Given the description of an element on the screen output the (x, y) to click on. 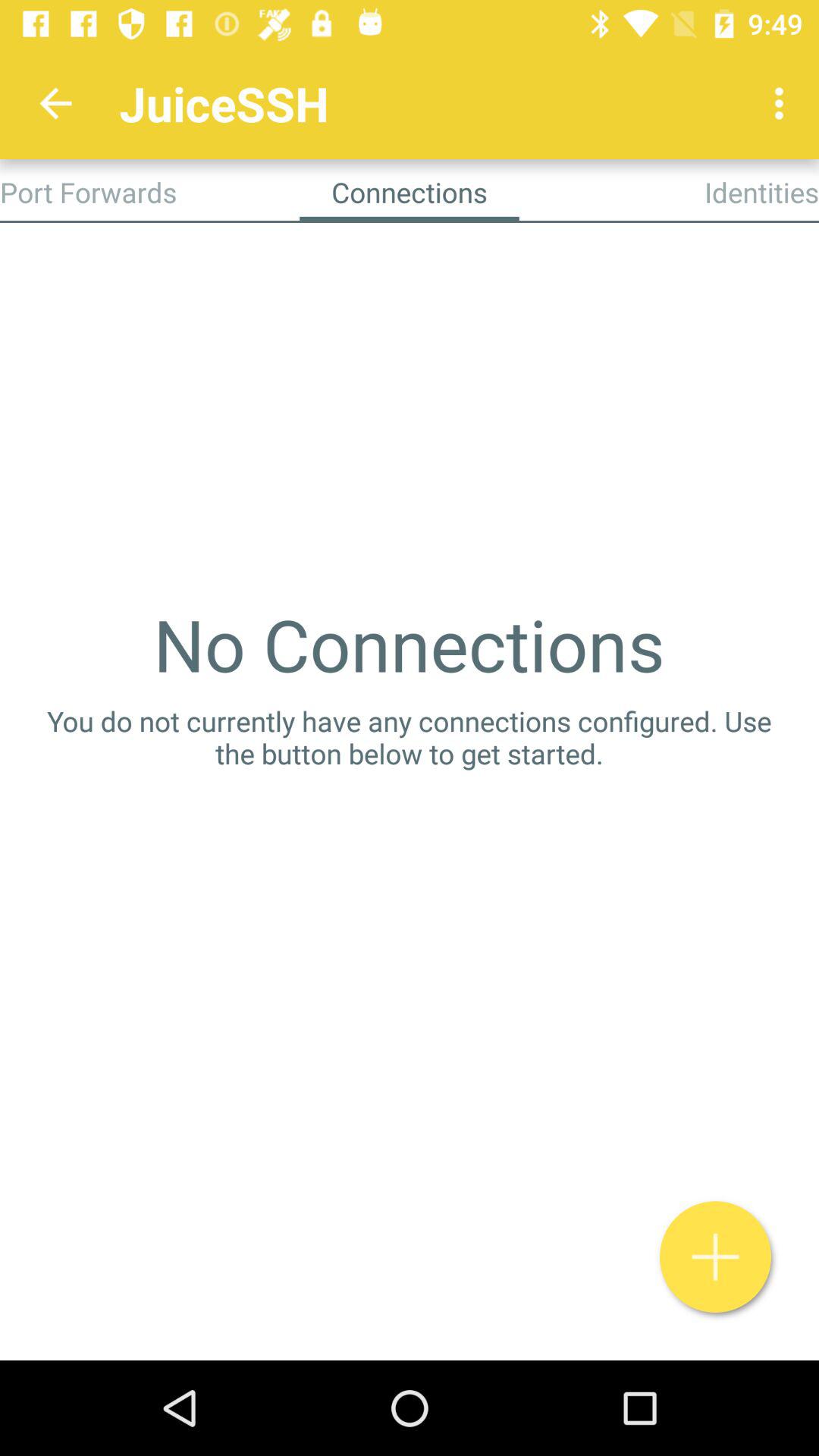
choose item to the left of juicessh app (55, 103)
